Given the description of an element on the screen output the (x, y) to click on. 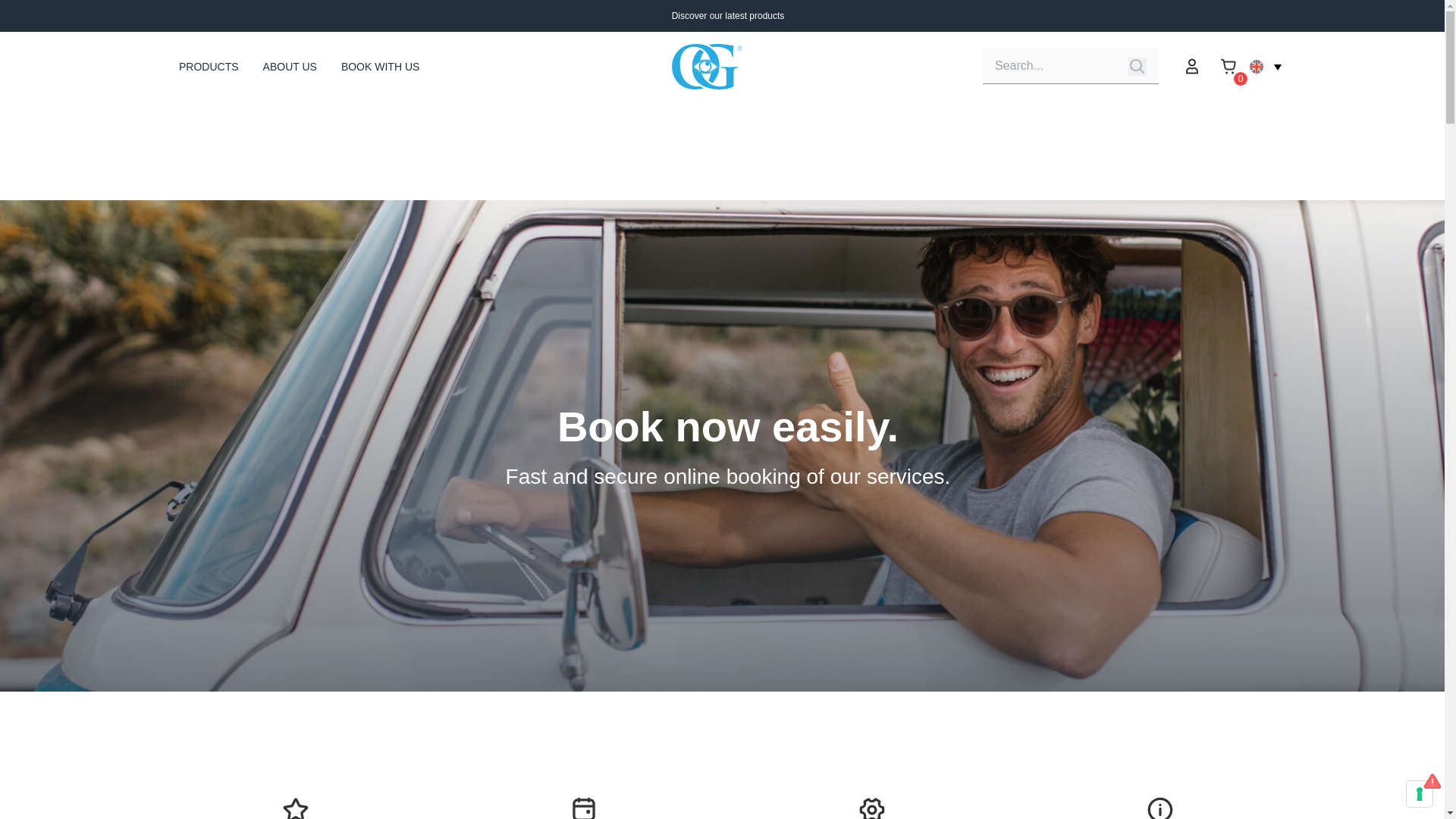
BOOK A VISIT (583, 800)
BOOKING THE ICONIC LOOK (296, 800)
BOOK WITH US (379, 66)
ABOUT US (290, 66)
LOOKING FOR A REPLACEMENT? (871, 800)
Carrello (1228, 66)
Ottica Gold (706, 66)
Account (1191, 66)
LOOKING FOR A PAIR OF GLASSES? (1159, 800)
0 (1228, 66)
